Given the description of an element on the screen output the (x, y) to click on. 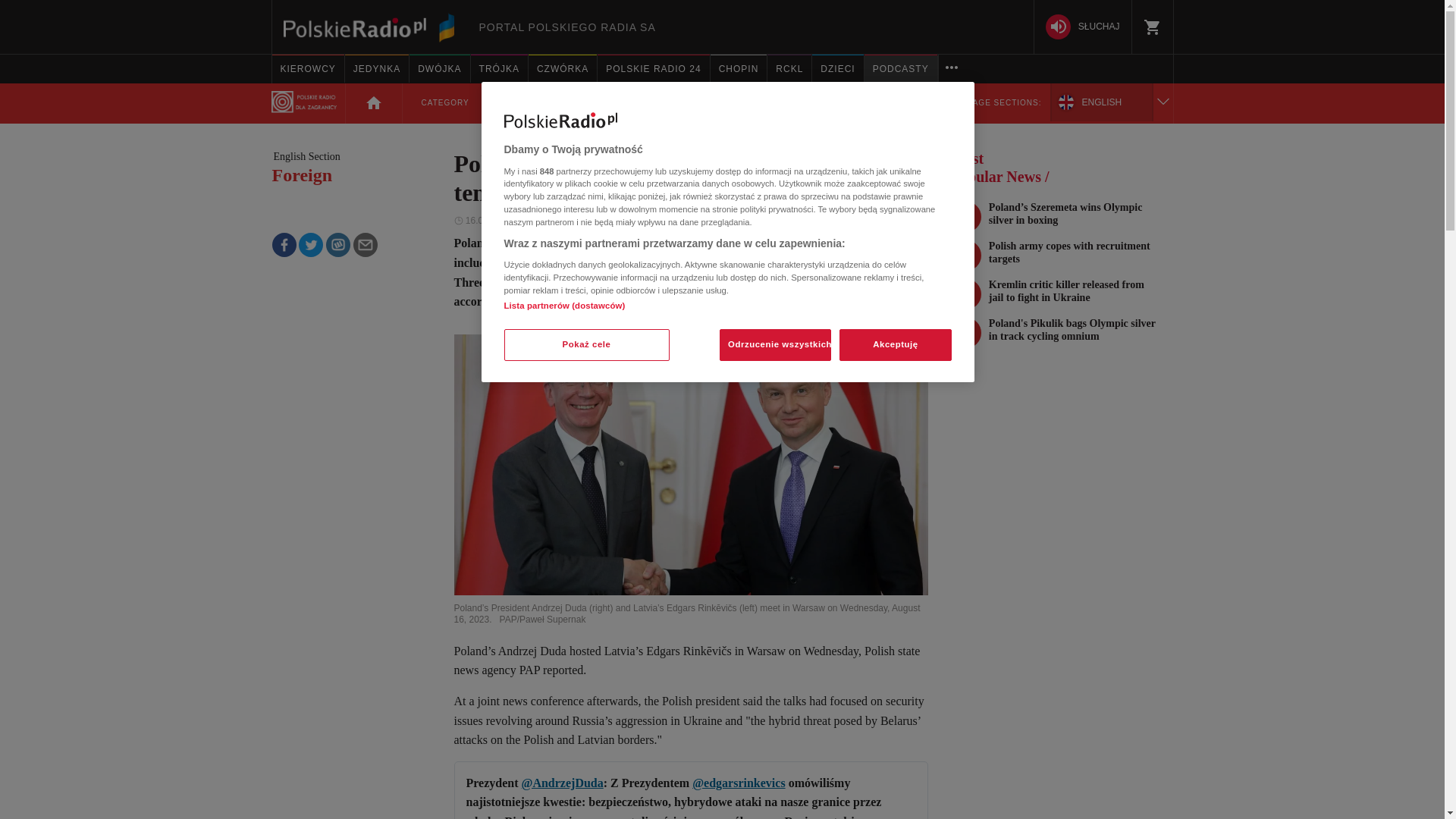
Share link via email (365, 244)
Kremlin critic killer released from jail to fight in Ukraine (1061, 291)
 Foreign (304, 175)
Polish army copes with recruitment targets (1061, 252)
English Section (304, 156)
Share on Facebook (282, 244)
Uruchom player Polskiego Radia (1082, 27)
Wykop (338, 244)
Poland's Pikulik bags Olympic silver in track cycling omnium (1061, 329)
